Given the description of an element on the screen output the (x, y) to click on. 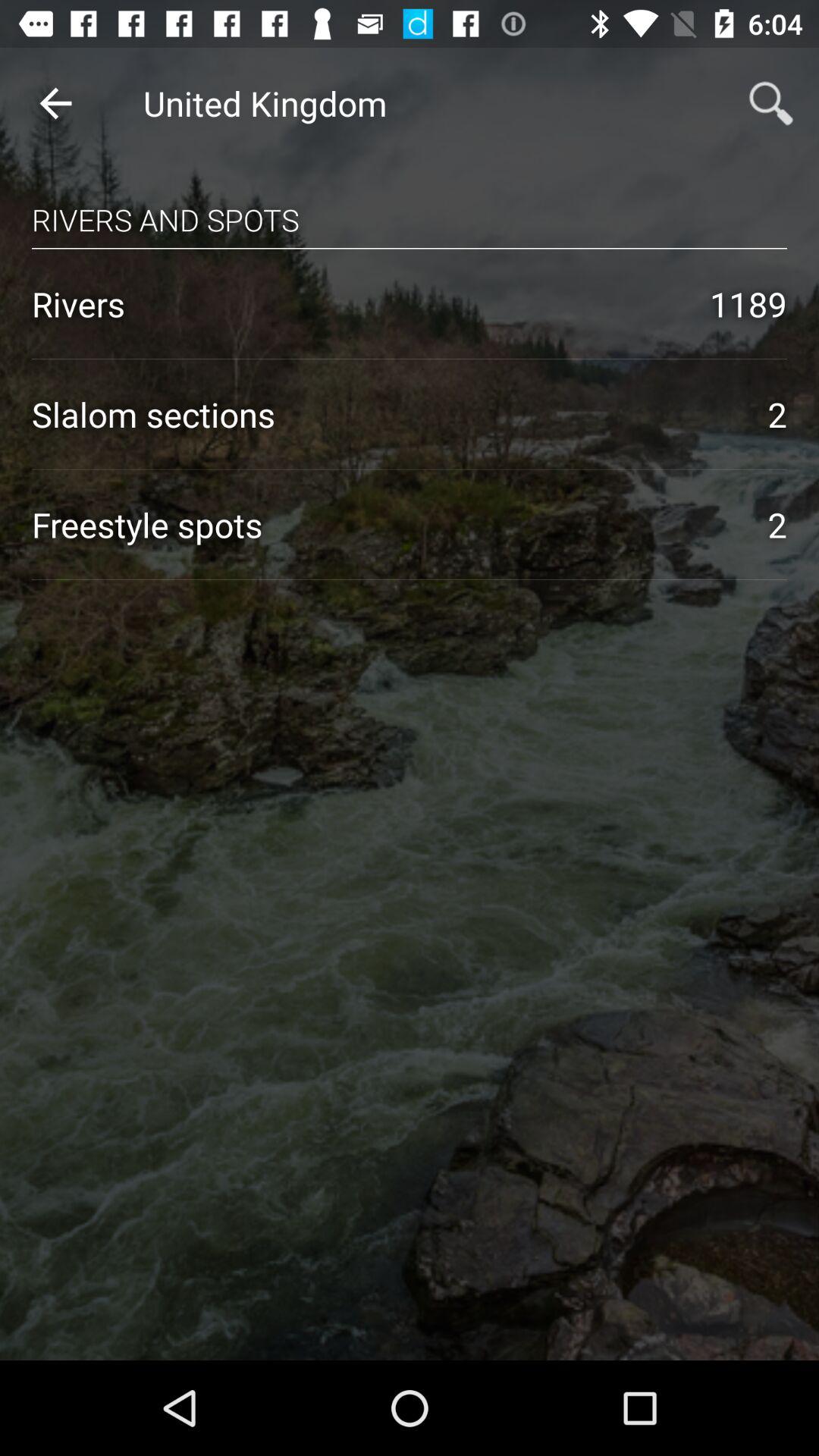
select the icon next to the 2 (383, 414)
